Given the description of an element on the screen output the (x, y) to click on. 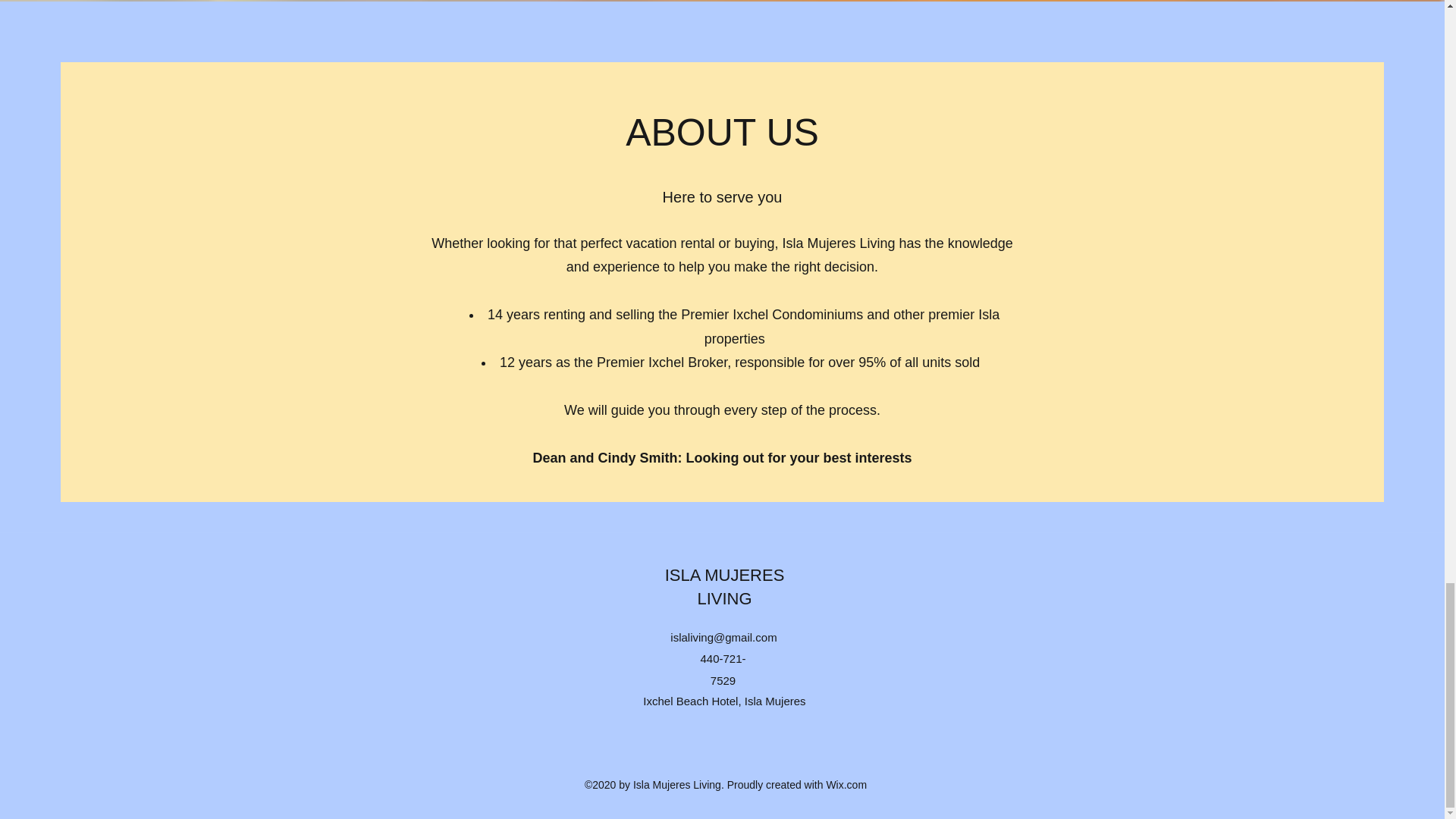
ISLA MUJERES LIVING (724, 586)
